Given the description of an element on the screen output the (x, y) to click on. 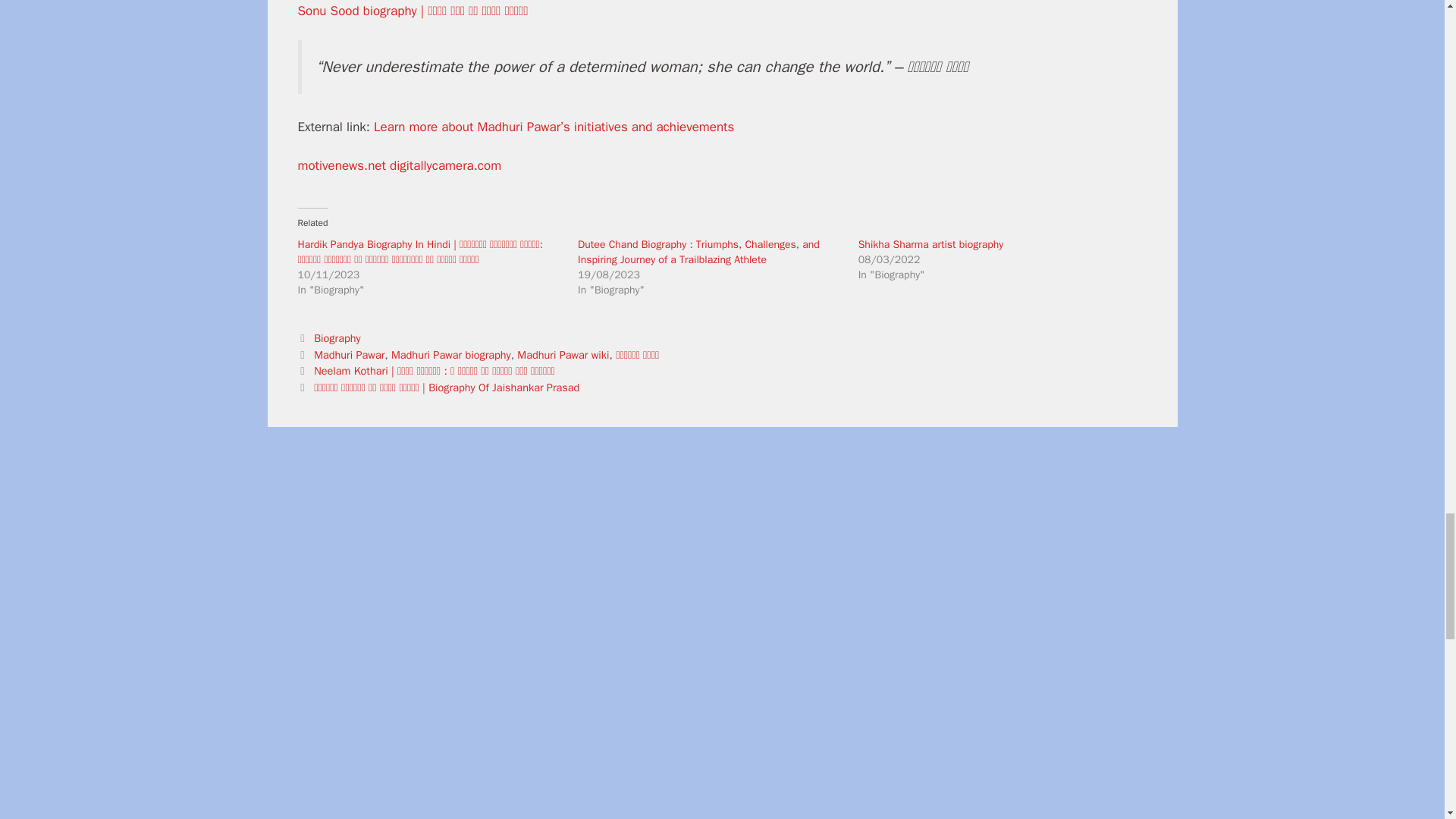
Madhuri Pawar wiki (562, 354)
Shikha Sharma artist biography (931, 244)
motivenews.net (341, 165)
Madhuri Pawar biography (451, 354)
Biography (336, 337)
digitallycamera.com (445, 165)
Madhuri Pawar (349, 354)
